Given the description of an element on the screen output the (x, y) to click on. 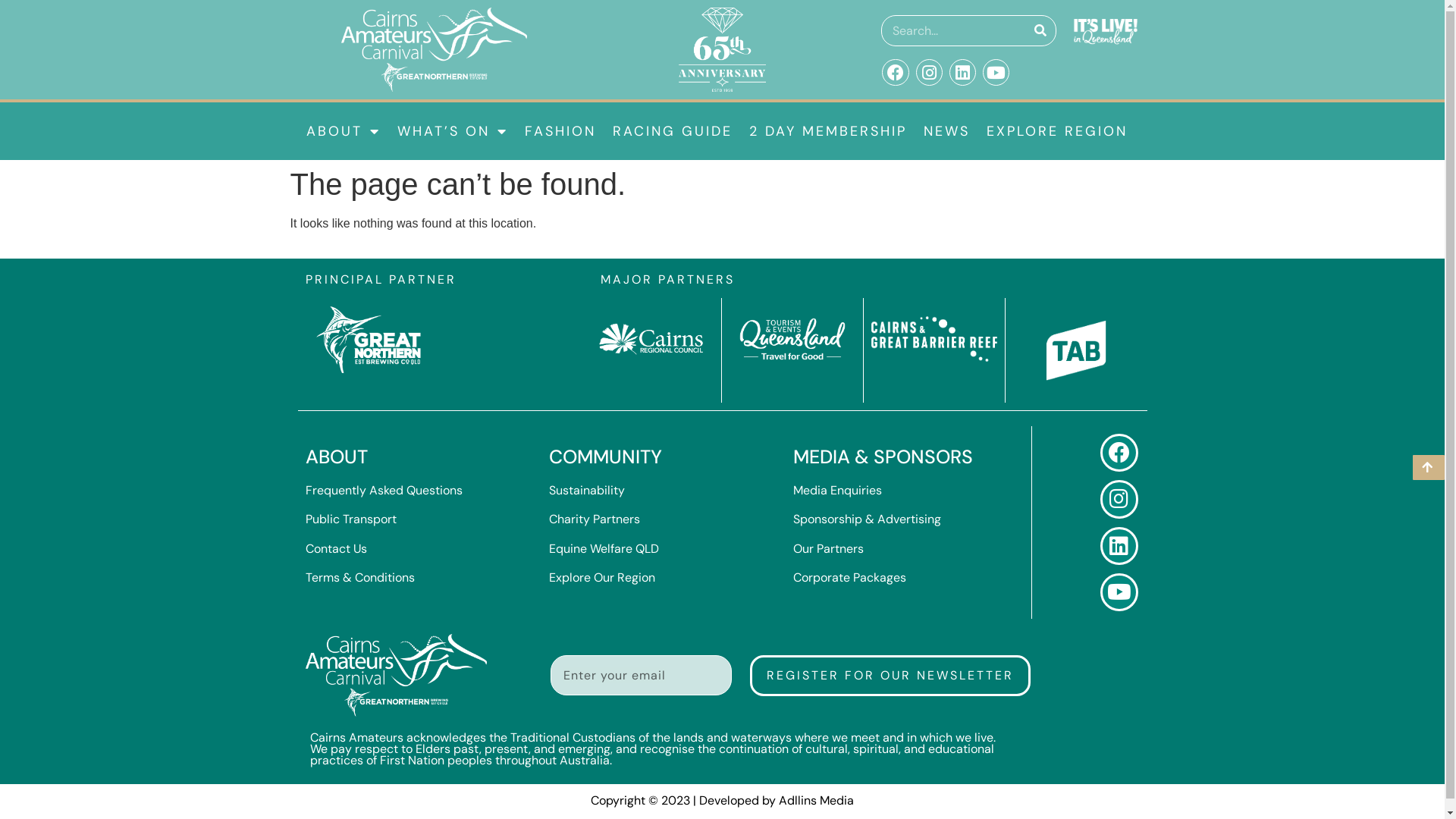
Contact Us Element type: text (335, 548)
Terms & Conditions Element type: text (359, 577)
Our Partners Element type: text (828, 548)
Media Enquiries Element type: text (837, 490)
Sponsorship & Advertising Element type: text (867, 519)
REGISTER FOR OUR NEWSLETTER Element type: text (890, 675)
2 DAY MEMBERSHIP Element type: text (827, 130)
Sustainability Element type: text (586, 490)
Charity Partners Element type: text (594, 519)
Explore Our Region Element type: text (602, 577)
RACING GUIDE Element type: text (671, 130)
Adllins Media Element type: text (815, 800)
NEWS Element type: text (945, 130)
Corporate Packages Element type: text (849, 577)
Frequently Asked Questions Element type: text (382, 490)
FASHION Element type: text (559, 130)
EXPLORE REGION Element type: text (1056, 130)
Equine Welfare QLD Element type: text (603, 548)
Public Transport Element type: text (349, 519)
ABOUT Element type: text (342, 130)
